Given the description of an element on the screen output the (x, y) to click on. 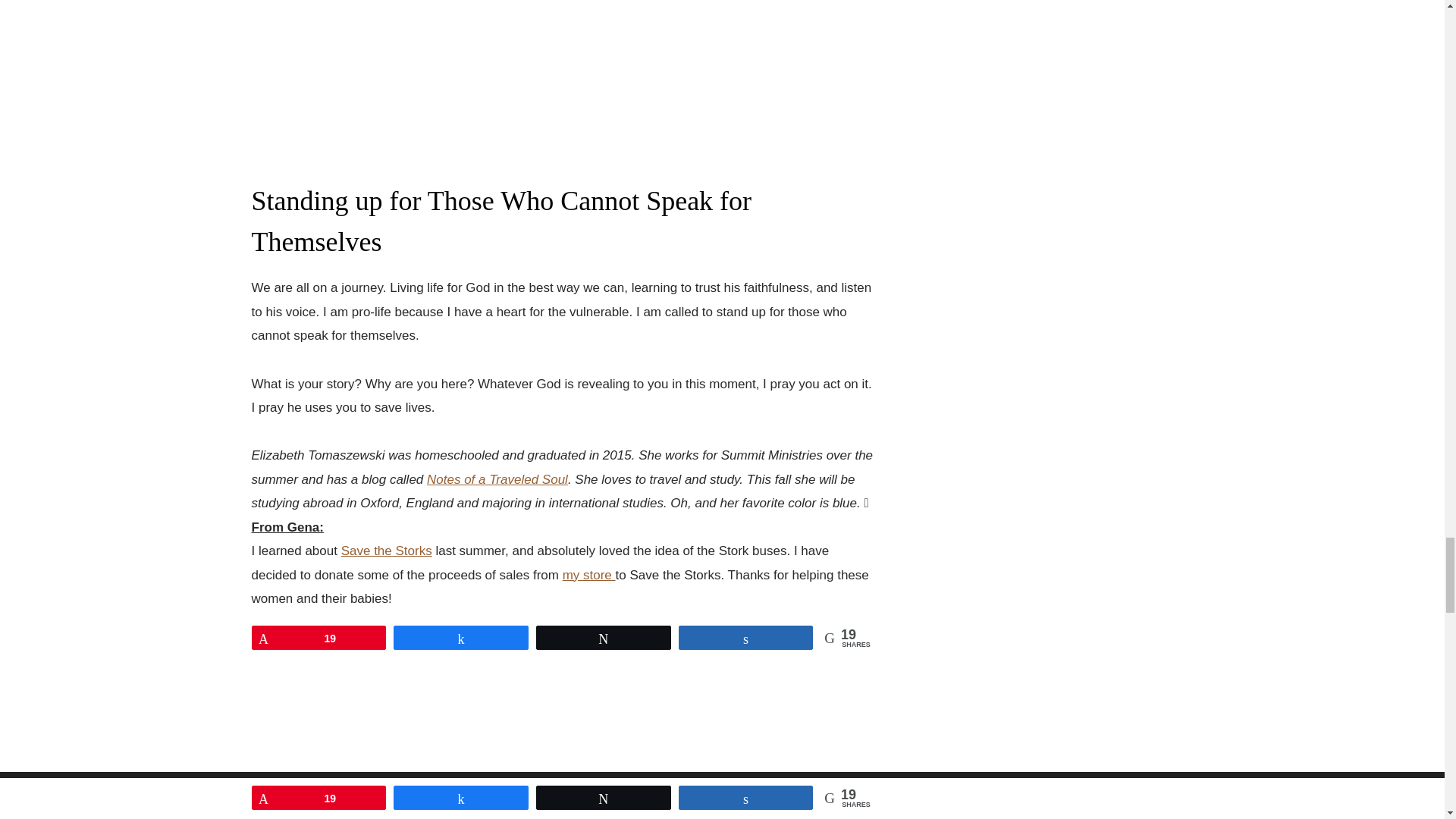
19 (318, 637)
Notes of a Traveled Soul (496, 479)
my store (588, 575)
Save the Storks (386, 550)
